Given the description of an element on the screen output the (x, y) to click on. 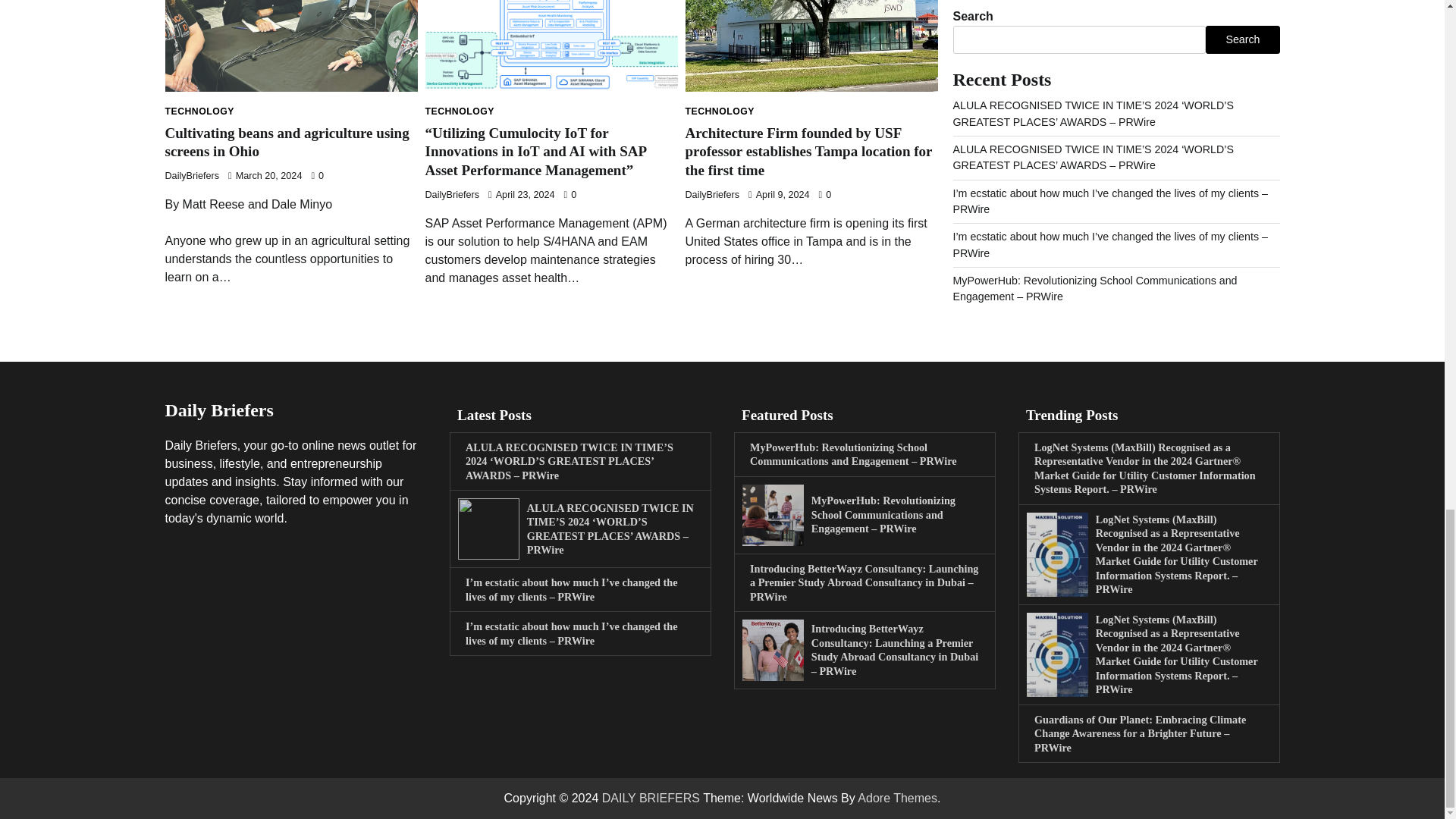
DailyBriefers (452, 194)
DailyBriefers (192, 175)
TECHNOLOGY (719, 111)
TECHNOLOGY (459, 111)
TECHNOLOGY (199, 111)
Cultivating beans and agriculture using screens in Ohio (287, 142)
DailyBriefers (712, 194)
